Given the description of an element on the screen output the (x, y) to click on. 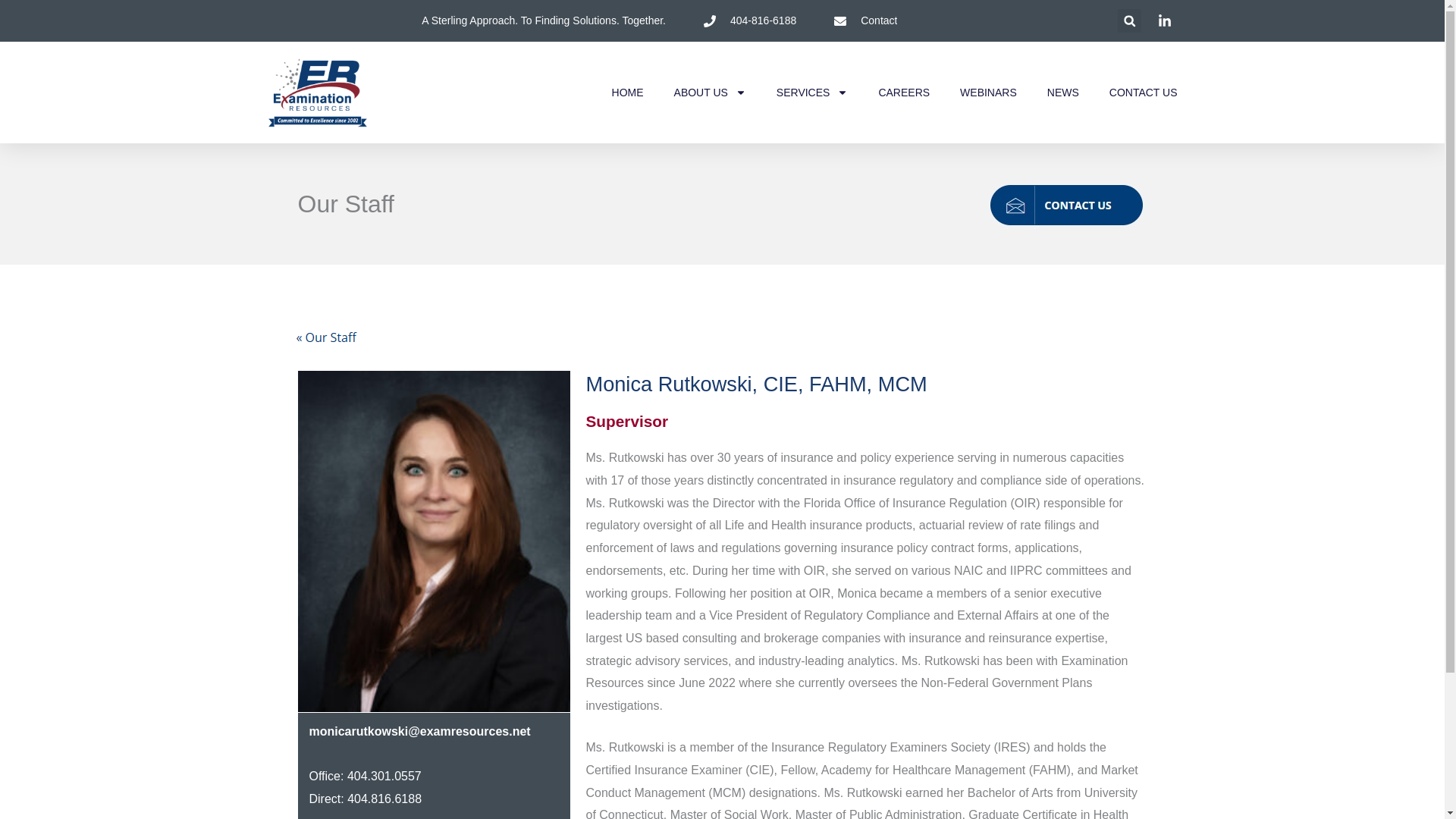
404-816-6188 (749, 21)
CAREERS (903, 92)
WEBINARS (987, 92)
SERVICES (812, 92)
CONTACT US (1143, 92)
NEWS (1062, 92)
ABOUT US (709, 92)
HOME (627, 92)
Contact (865, 21)
